Given the description of an element on the screen output the (x, y) to click on. 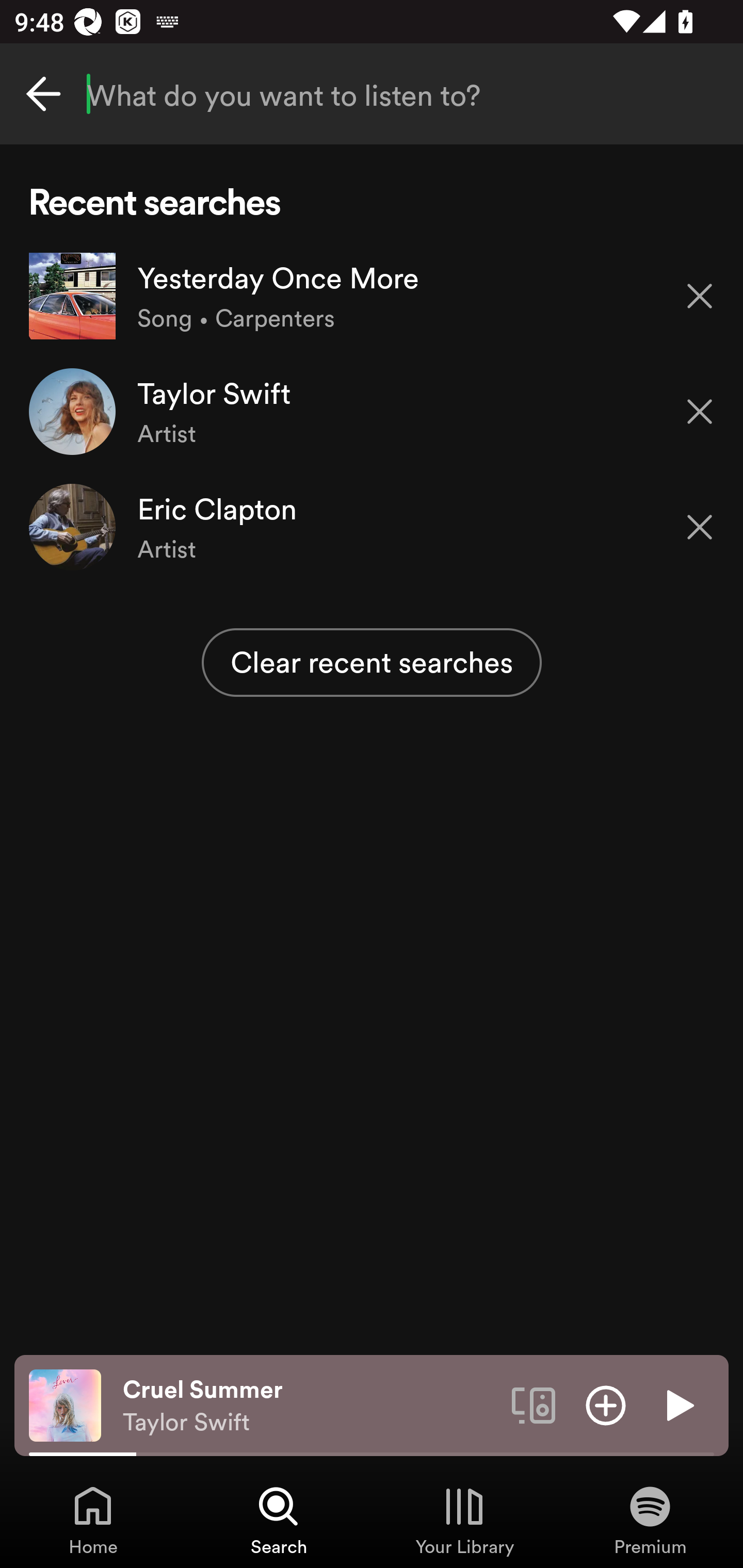
What do you want to listen to? (371, 93)
Cancel (43, 93)
Yesterday Once More Song • Carpenters Remove (371, 296)
Remove (699, 295)
Taylor Swift Artist Remove (371, 411)
Remove (699, 411)
Eric Clapton Artist Remove (371, 526)
Remove (699, 527)
Clear recent searches (371, 662)
Cruel Summer Taylor Swift (309, 1405)
The cover art of the currently playing track (64, 1404)
Connect to a device. Opens the devices menu (533, 1404)
Add item (605, 1404)
Play (677, 1404)
Home, Tab 1 of 4 Home Home (92, 1519)
Search, Tab 2 of 4 Search Search (278, 1519)
Your Library, Tab 3 of 4 Your Library Your Library (464, 1519)
Premium, Tab 4 of 4 Premium Premium (650, 1519)
